Given the description of an element on the screen output the (x, y) to click on. 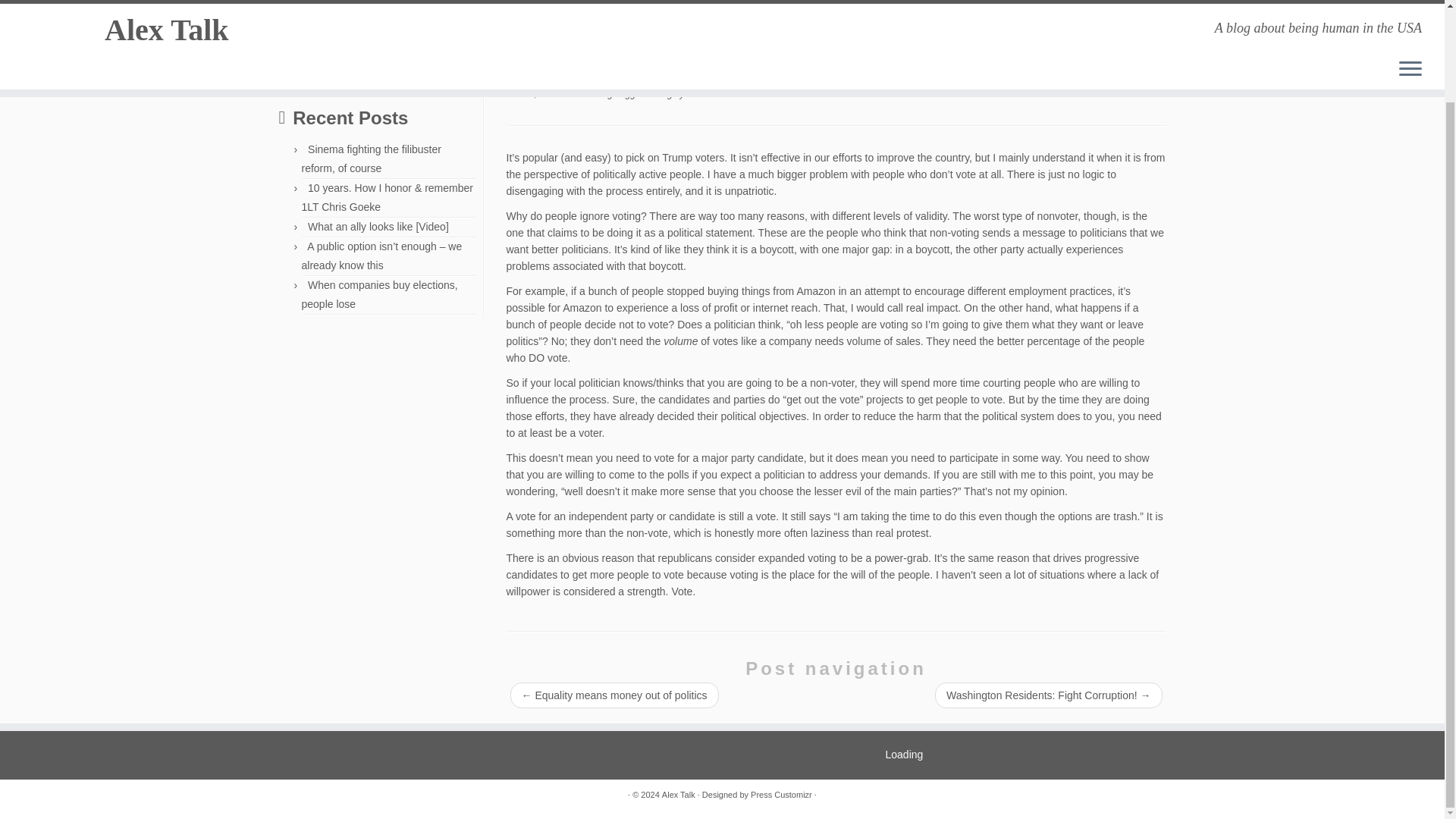
Alex (694, 93)
Search (305, 76)
Home (293, 16)
Sinema fighting the filibuster reform, of course (371, 158)
Press Customizr (781, 795)
View all posts in Alex Blog (593, 93)
Blog (328, 16)
10:38 am (533, 93)
Press Customizr (781, 795)
View all posts in voting (661, 93)
When companies buy elections, people lose (379, 294)
23 Feb, 2019 (533, 93)
Alex Blog (593, 93)
Search (305, 76)
Alex Talk (293, 16)
